Given the description of an element on the screen output the (x, y) to click on. 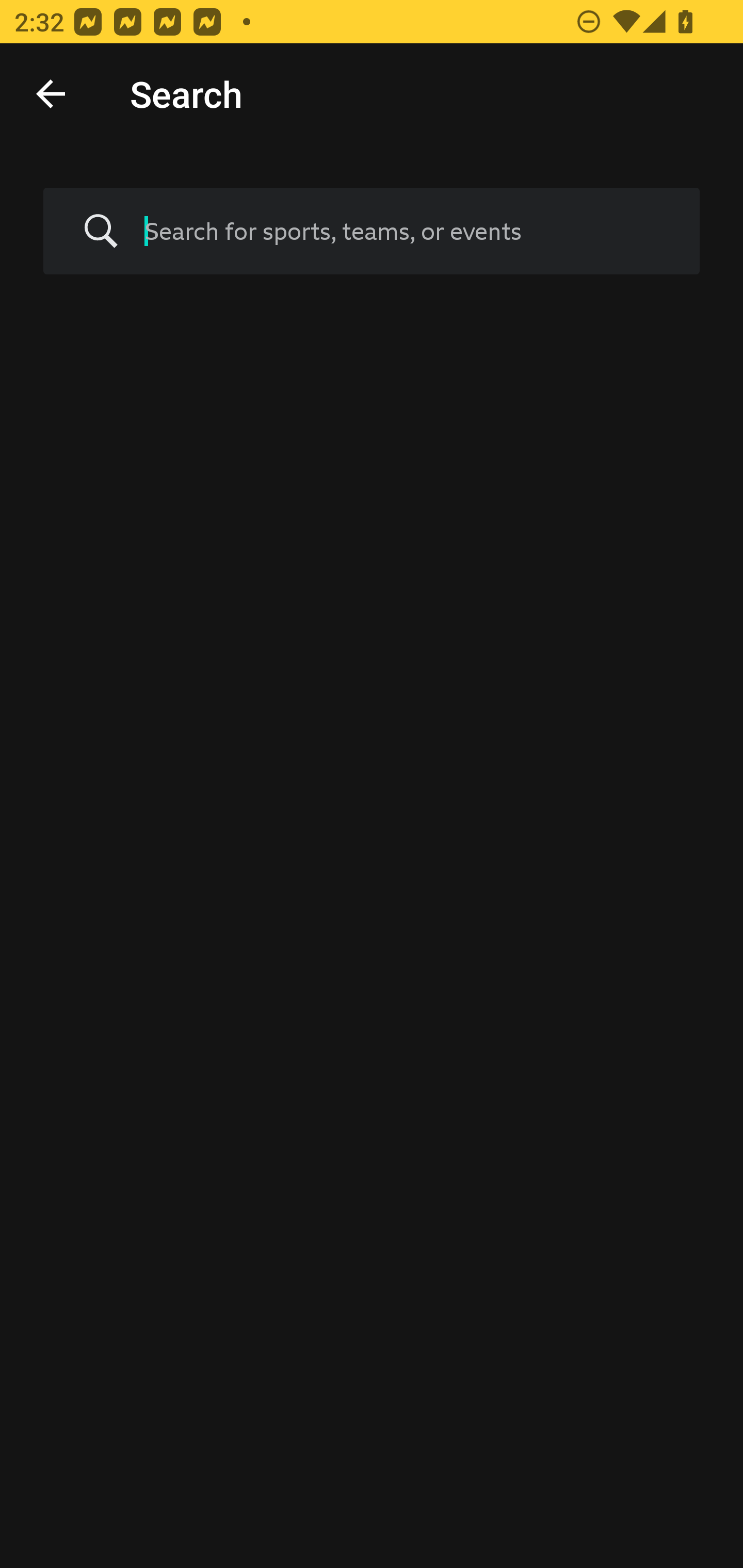
Done (50, 93)
Search for sports, teams, or events (371, 231)
Search for sports, teams, or events (407, 231)
